Given the description of an element on the screen output the (x, y) to click on. 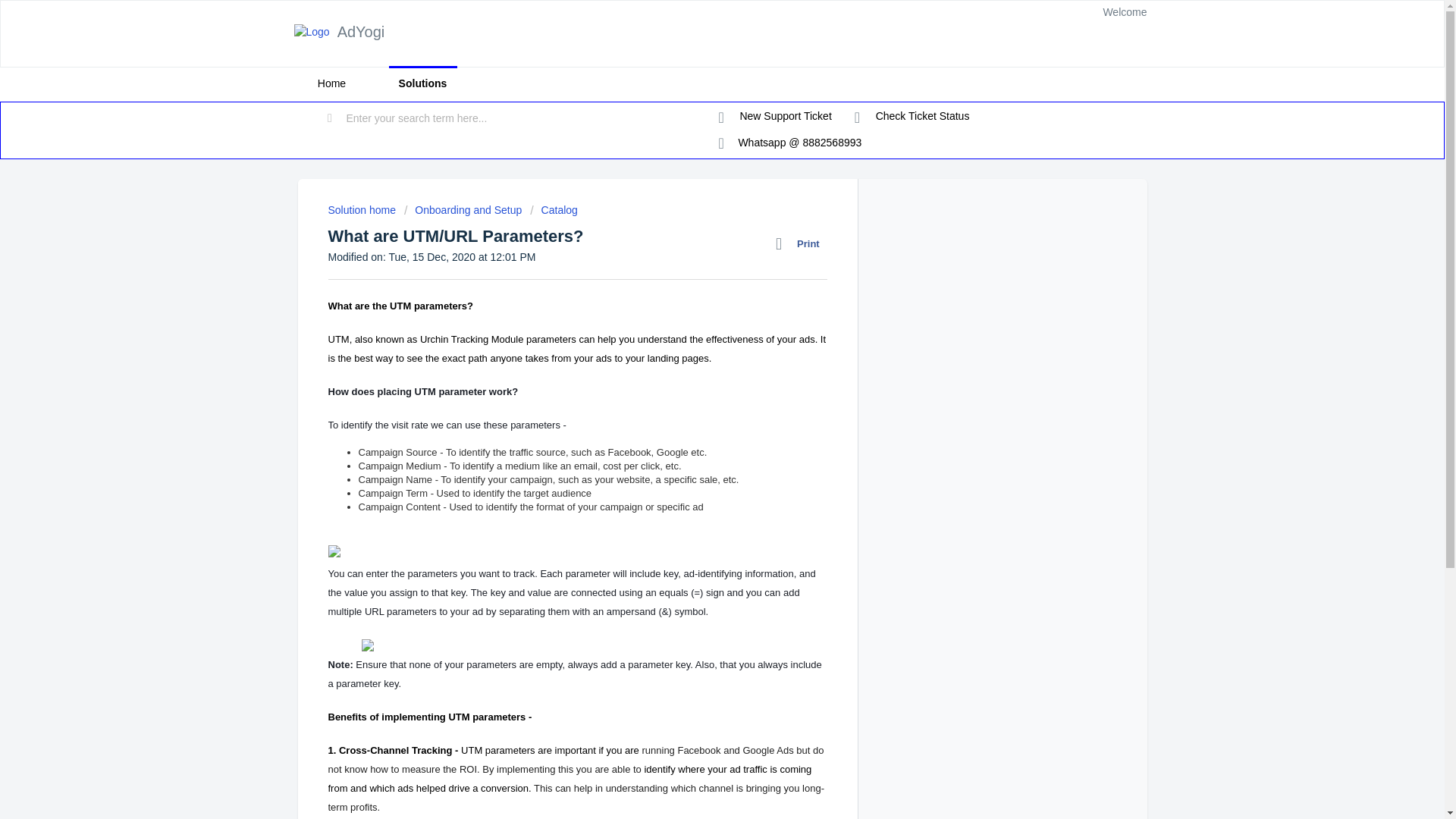
Print (801, 243)
Catalog (553, 209)
New Support Ticket (775, 116)
Home (331, 83)
Solution home (362, 209)
Check Ticket Status (911, 116)
Print this Article (801, 243)
New support ticket (775, 116)
Onboarding and Setup (462, 209)
Solutions (422, 83)
